Given the description of an element on the screen output the (x, y) to click on. 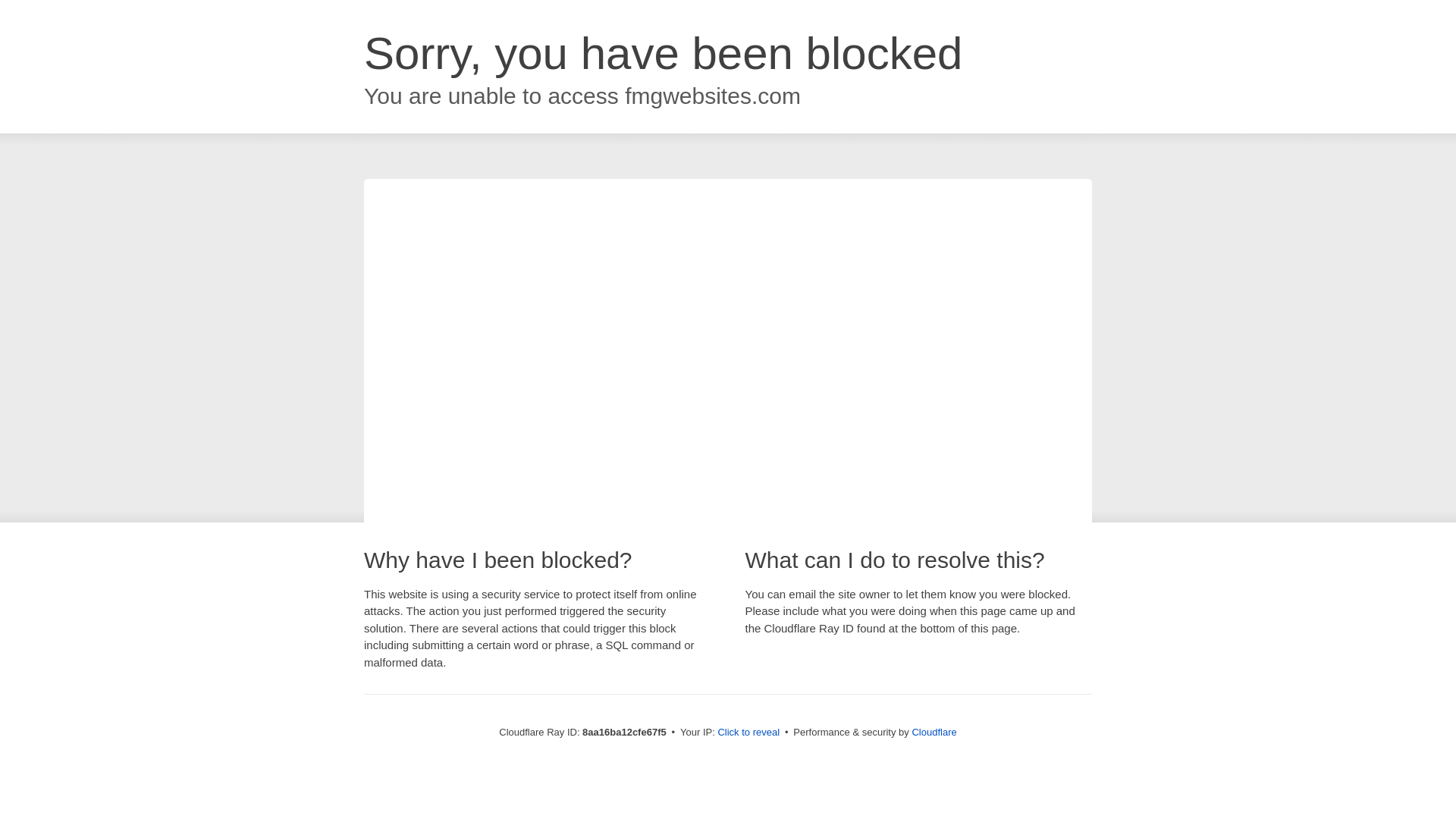
Click to reveal (747, 732)
Cloudflare (933, 731)
